Given the description of an element on the screen output the (x, y) to click on. 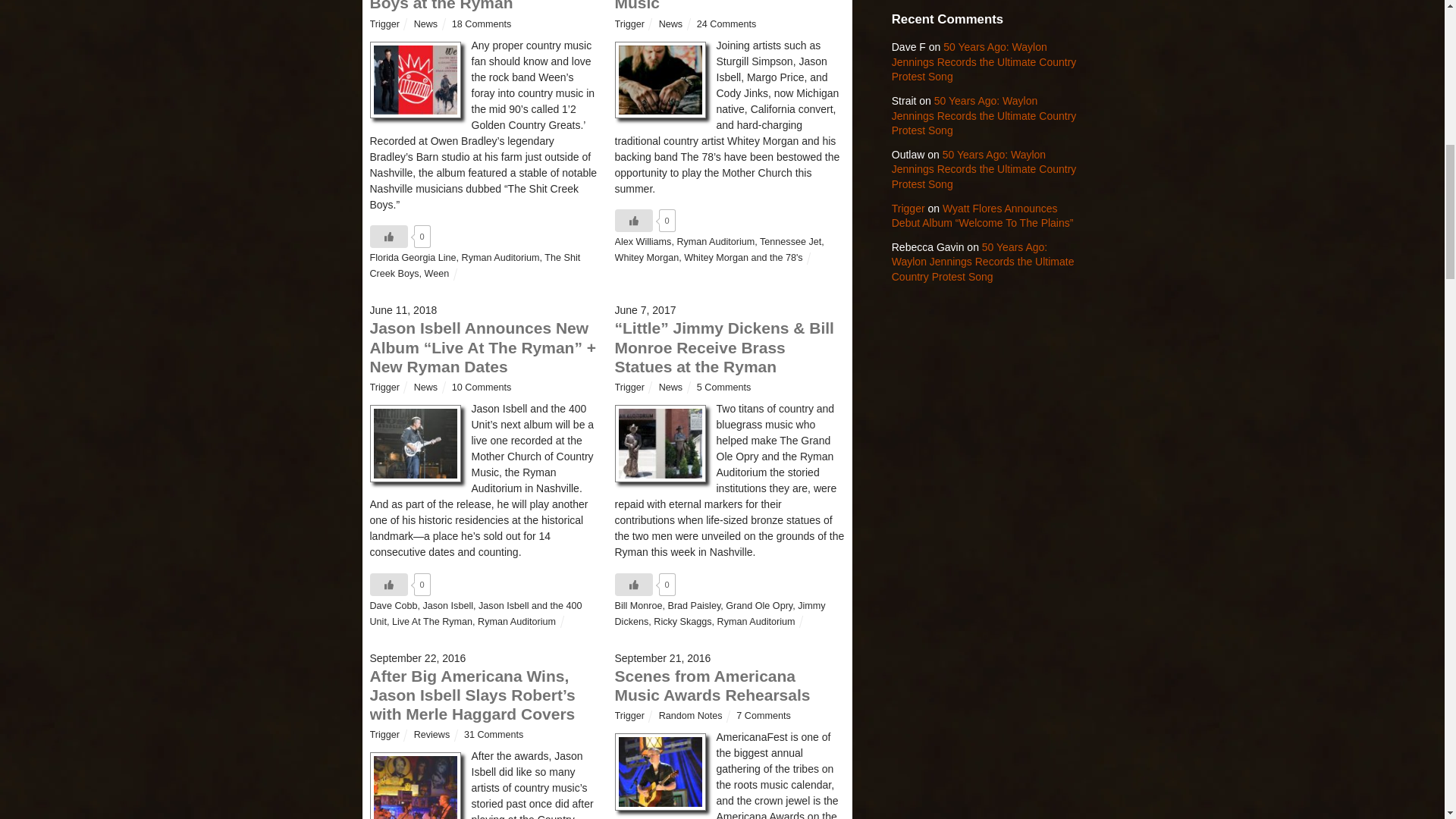
jason-isbell-ryman (415, 443)
jason-isbell-americana-2016-rehersals (659, 771)
ween-florida-georgia-line-ryman (415, 79)
whitey-morgan (659, 79)
jason-isbell-amanda-shires-roberts-western-world (415, 785)
